Given the description of an element on the screen output the (x, y) to click on. 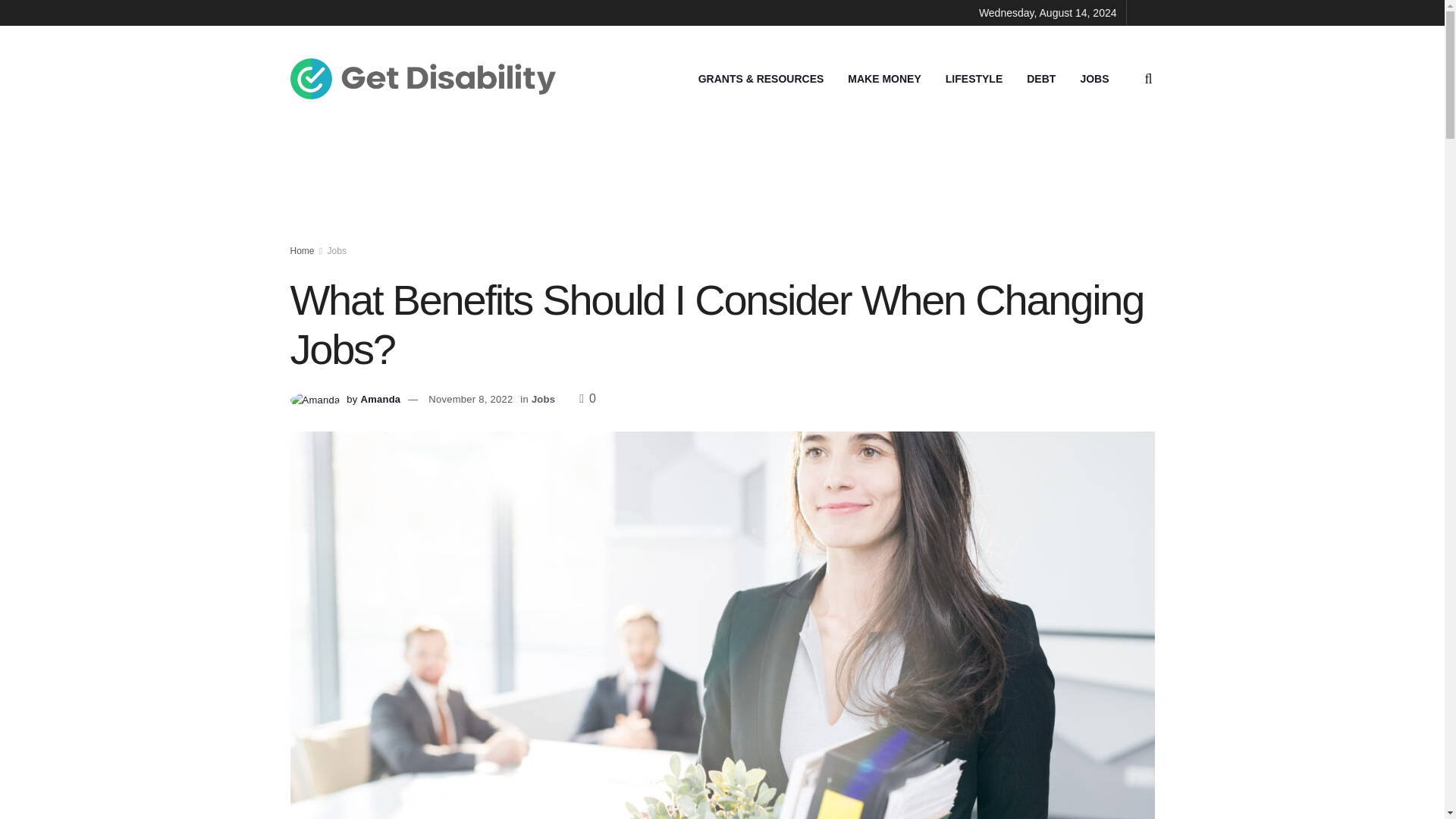
Home (301, 250)
November 8, 2022 (470, 398)
MAKE MONEY (884, 78)
Amanda (379, 398)
Advertisement (722, 188)
Jobs (336, 250)
JOBS (1094, 78)
0 (587, 398)
LIFESTYLE (973, 78)
DEBT (1040, 78)
